Given the description of an element on the screen output the (x, y) to click on. 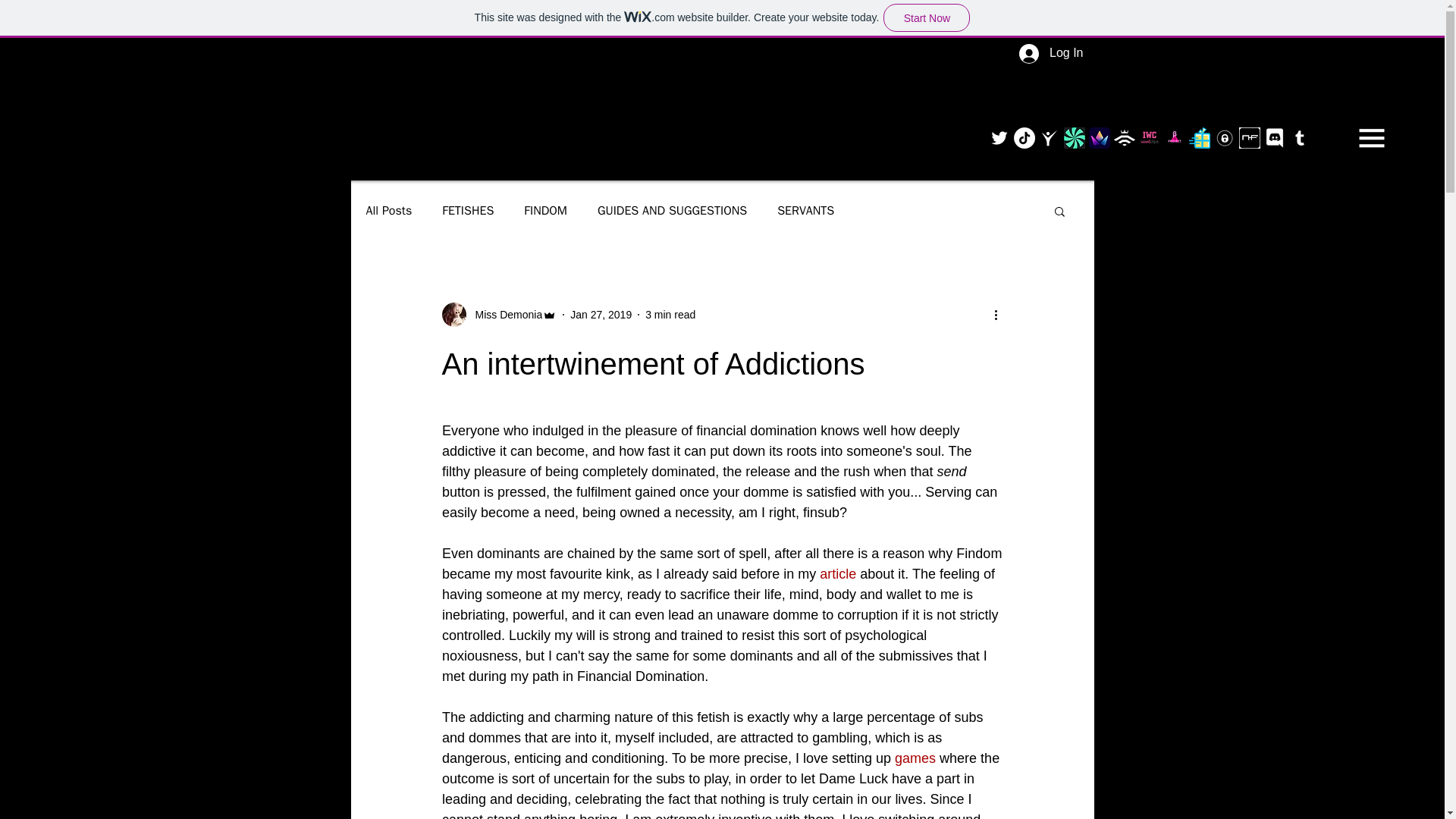
GUIDES AND SUGGESTIONS (671, 211)
SERVANTS (805, 211)
All Posts (388, 211)
Log In (1051, 53)
3 min read (670, 313)
FINDOM (545, 211)
article (837, 573)
games (915, 758)
Miss Demonia (503, 314)
FETISHES (467, 211)
